Given the description of an element on the screen output the (x, y) to click on. 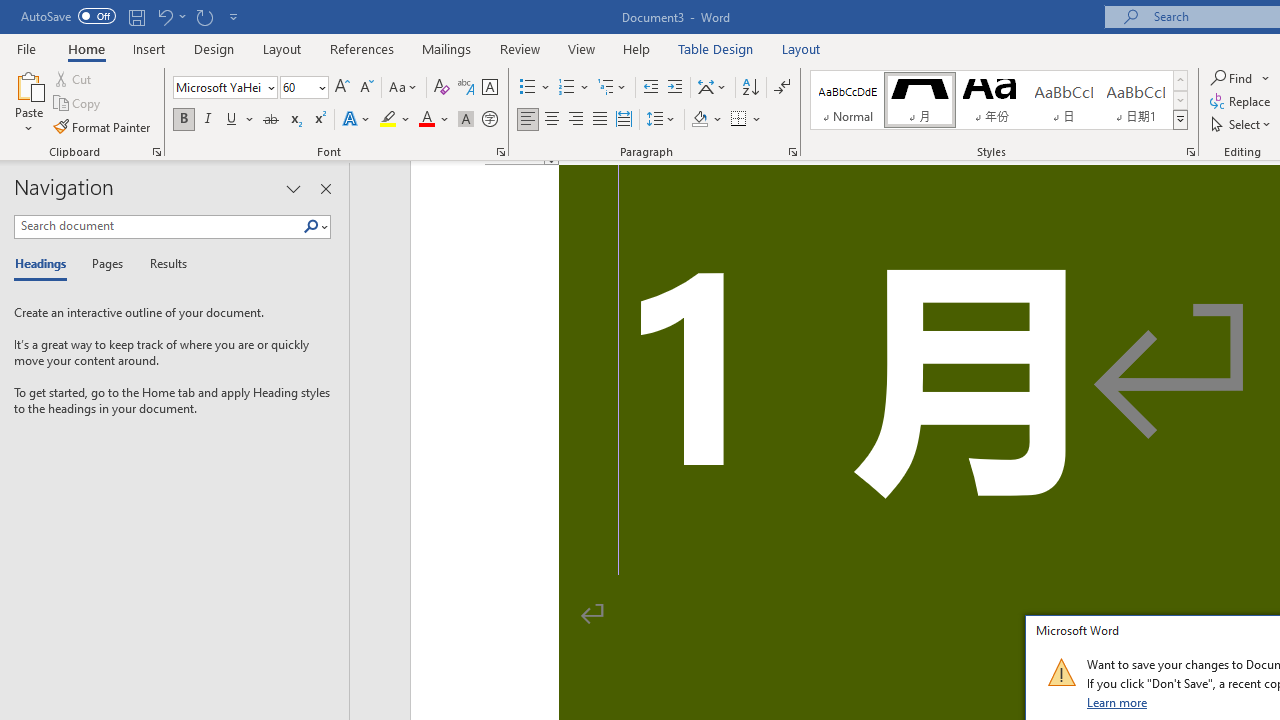
Line and Paragraph Spacing (661, 119)
Shading RGB(0, 0, 0) (699, 119)
Show/Hide Editing Marks (781, 87)
Center (552, 119)
Italic (207, 119)
Copy (78, 103)
